Given the description of an element on the screen output the (x, y) to click on. 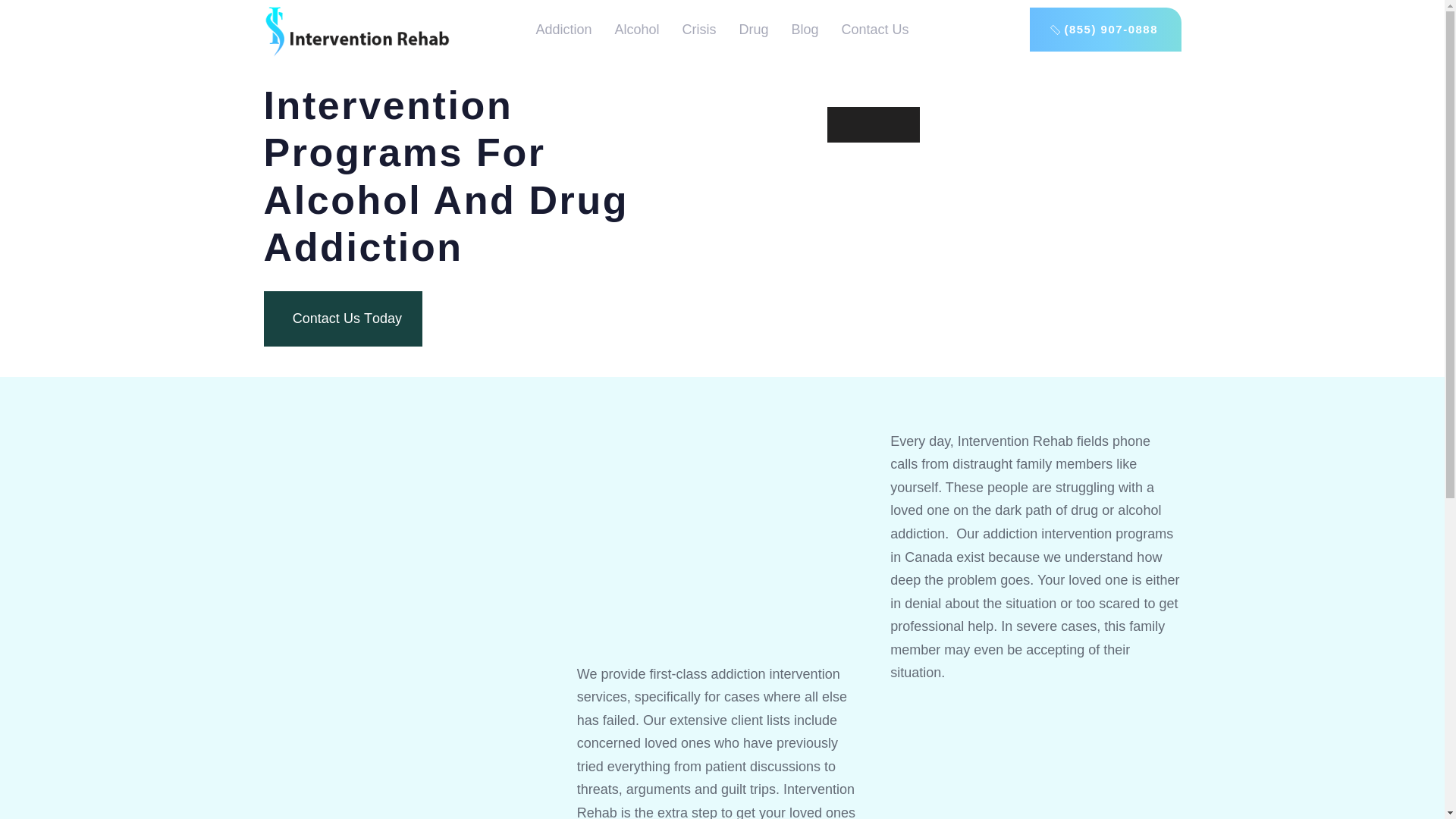
Crisis (699, 29)
Alcohol (342, 318)
Contact Us (635, 29)
Addiction (874, 29)
